Given the description of an element on the screen output the (x, y) to click on. 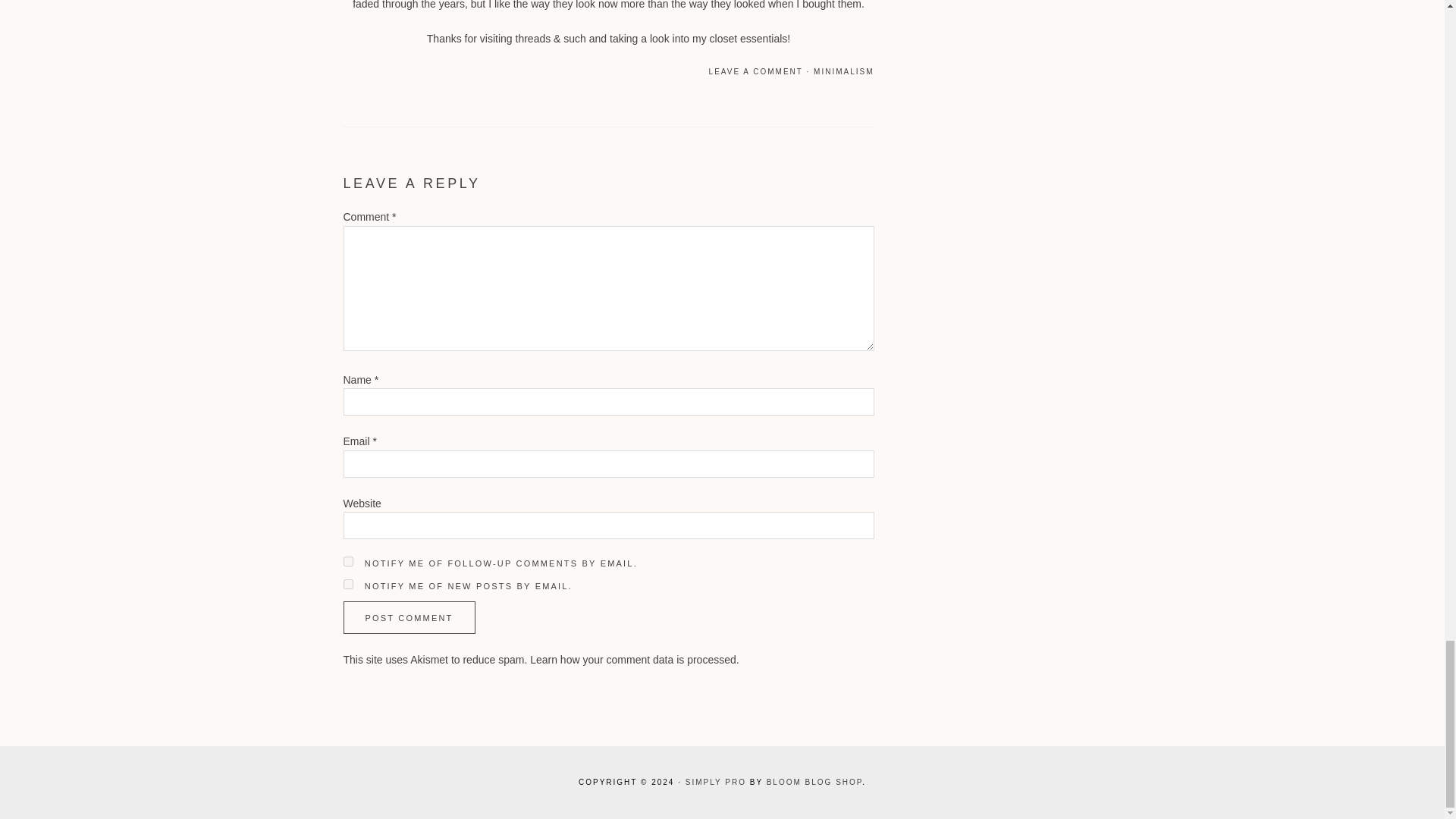
LEAVE A COMMENT (756, 71)
subscribe (347, 561)
Post Comment (408, 617)
subscribe (347, 583)
Post Comment (408, 617)
Learn how your comment data is processed (632, 659)
MINIMALISM (843, 71)
